Given the description of an element on the screen output the (x, y) to click on. 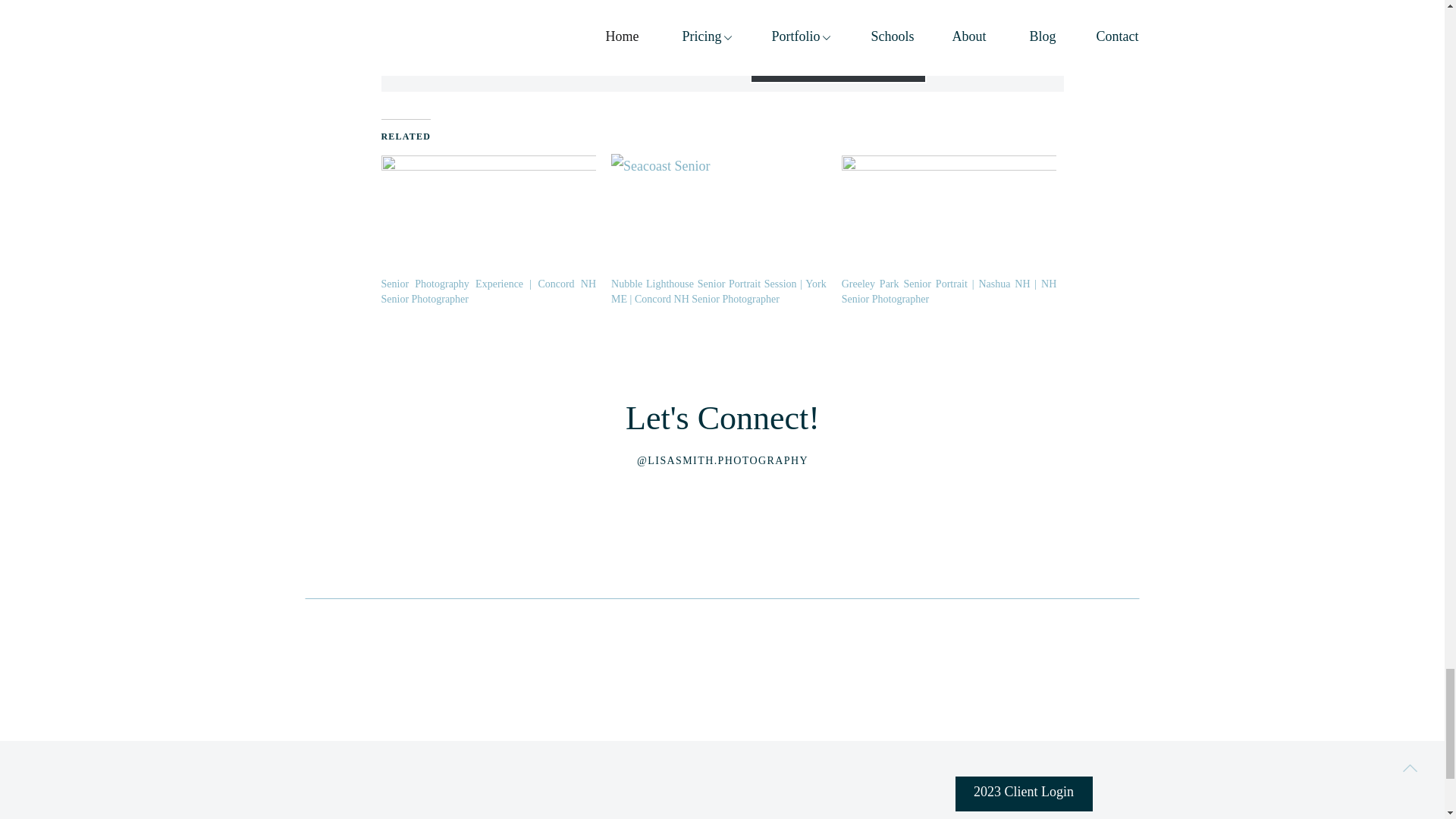
GRAB THE GUIDE (837, 52)
2023 Client Login (1024, 793)
